Given the description of an element on the screen output the (x, y) to click on. 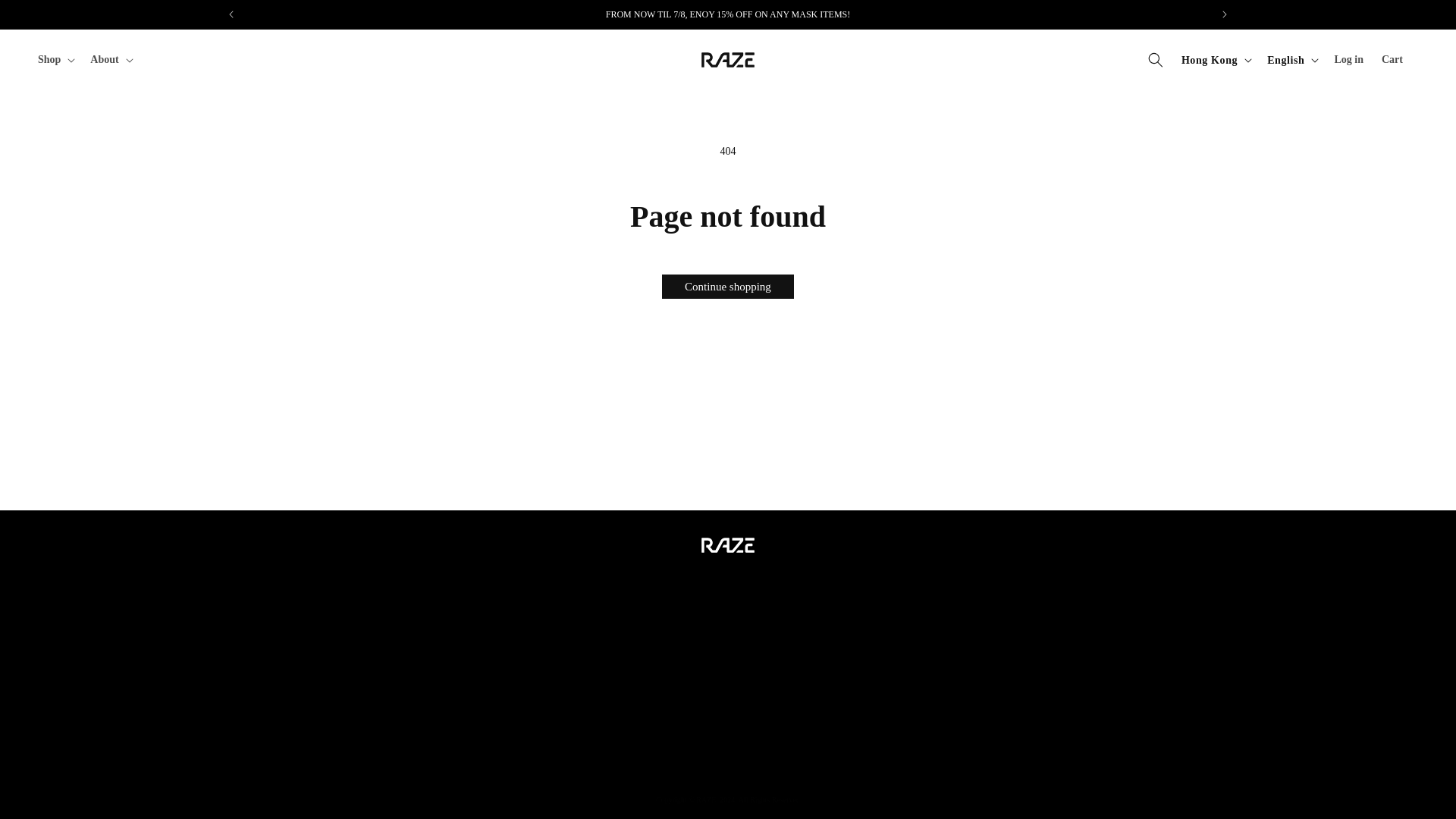
Skip to content (45, 11)
